Given the description of an element on the screen output the (x, y) to click on. 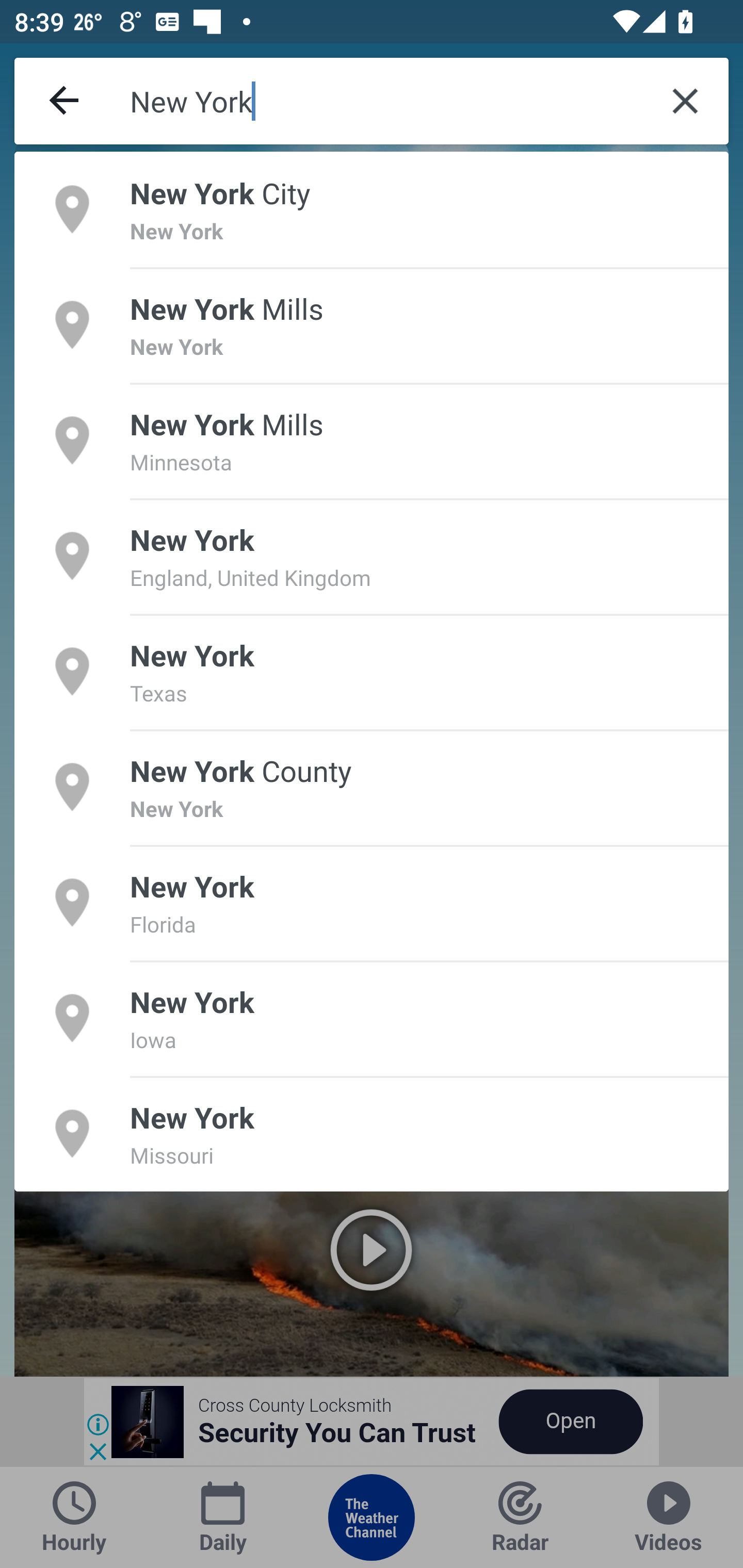
Back (64, 101)
Clear (684, 101)
New York (385, 100)
New York City New York (371, 209)
New York Mills New York (371, 324)
New York Mills Minnesota (371, 440)
New York England, United Kingdom (371, 555)
New York Texas (371, 671)
New York County New York (371, 787)
New York Florida (371, 902)
New York Iowa (371, 1017)
New York Missouri (371, 1133)
